Given the description of an element on the screen output the (x, y) to click on. 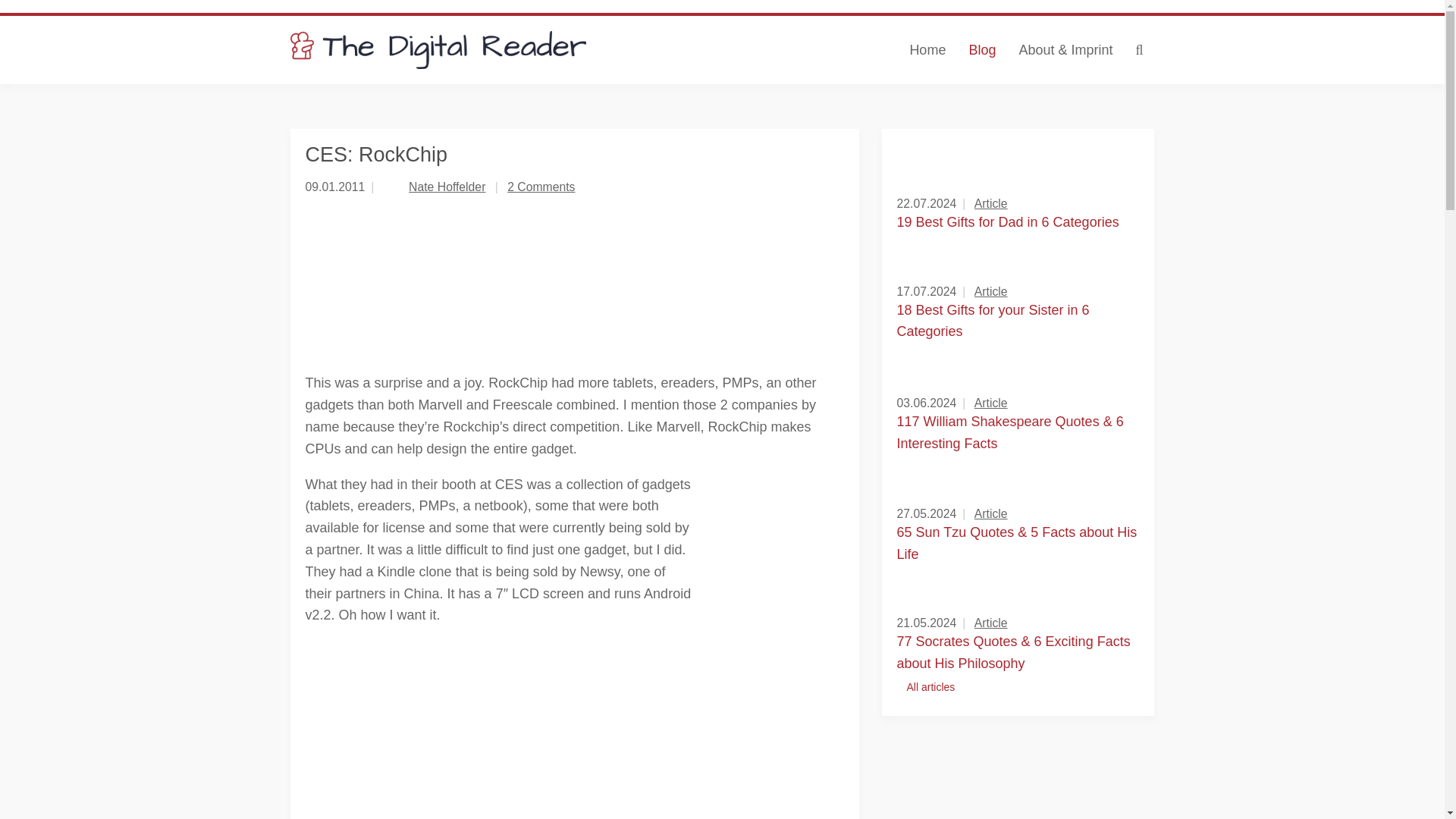
Nate Hoffelder (446, 186)
Article (990, 203)
Blog (981, 49)
Article (990, 291)
Home (927, 49)
2 Comments (540, 186)
The Digital Reader (437, 49)
rockchip kindle clone (775, 568)
19 Best Gifts for Dad in 6 Categories (1007, 222)
rockchip x (494, 283)
